Given the description of an element on the screen output the (x, y) to click on. 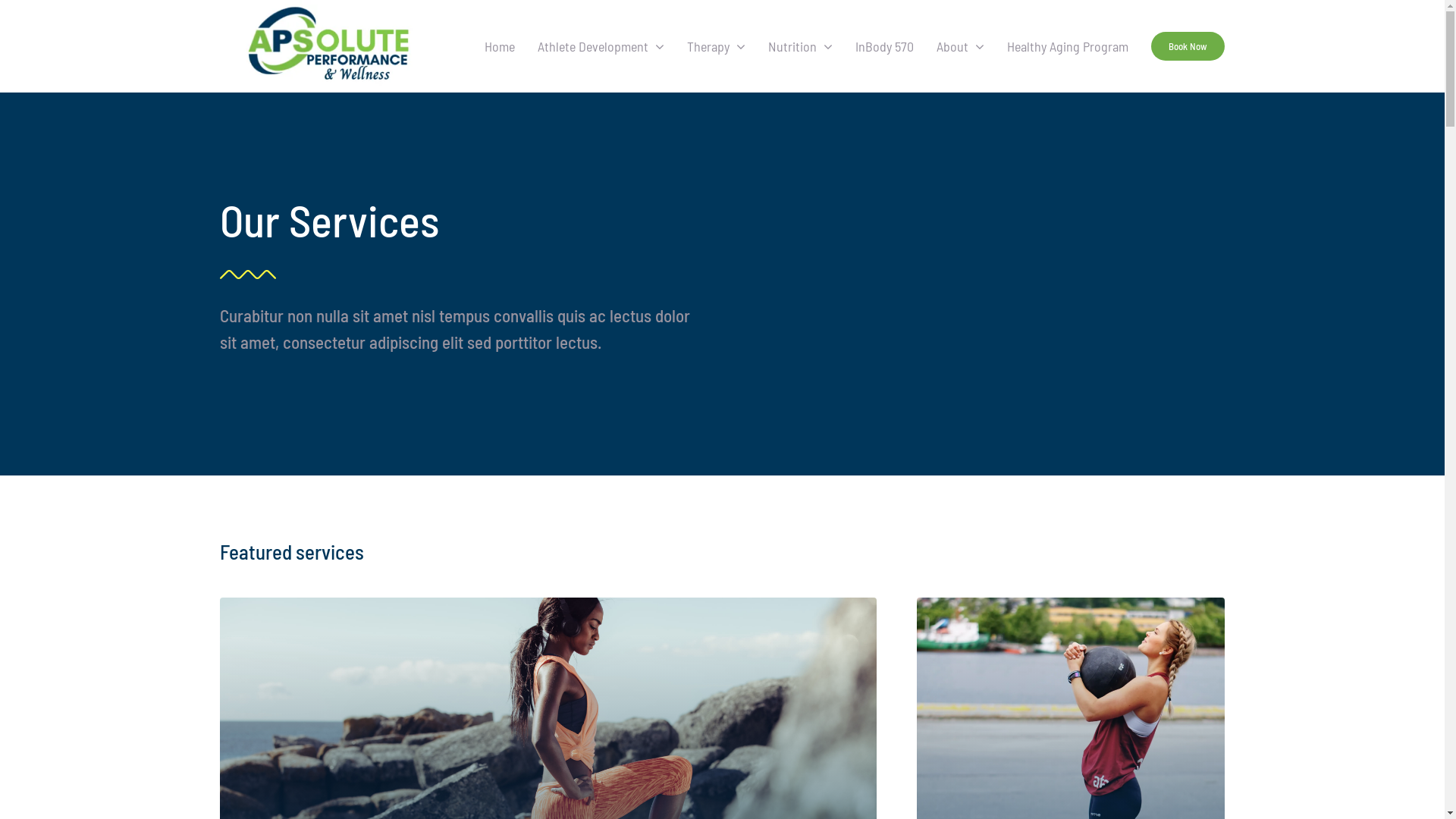
Therapy Element type: text (716, 46)
InBody 570 Element type: text (884, 46)
Athlete Development Element type: text (600, 46)
About Element type: text (960, 46)
Healthy Aging Program Element type: text (1067, 46)
Home Element type: text (499, 46)
Nutrition Element type: text (800, 46)
Book Now Element type: text (1187, 46)
